Given the description of an element on the screen output the (x, y) to click on. 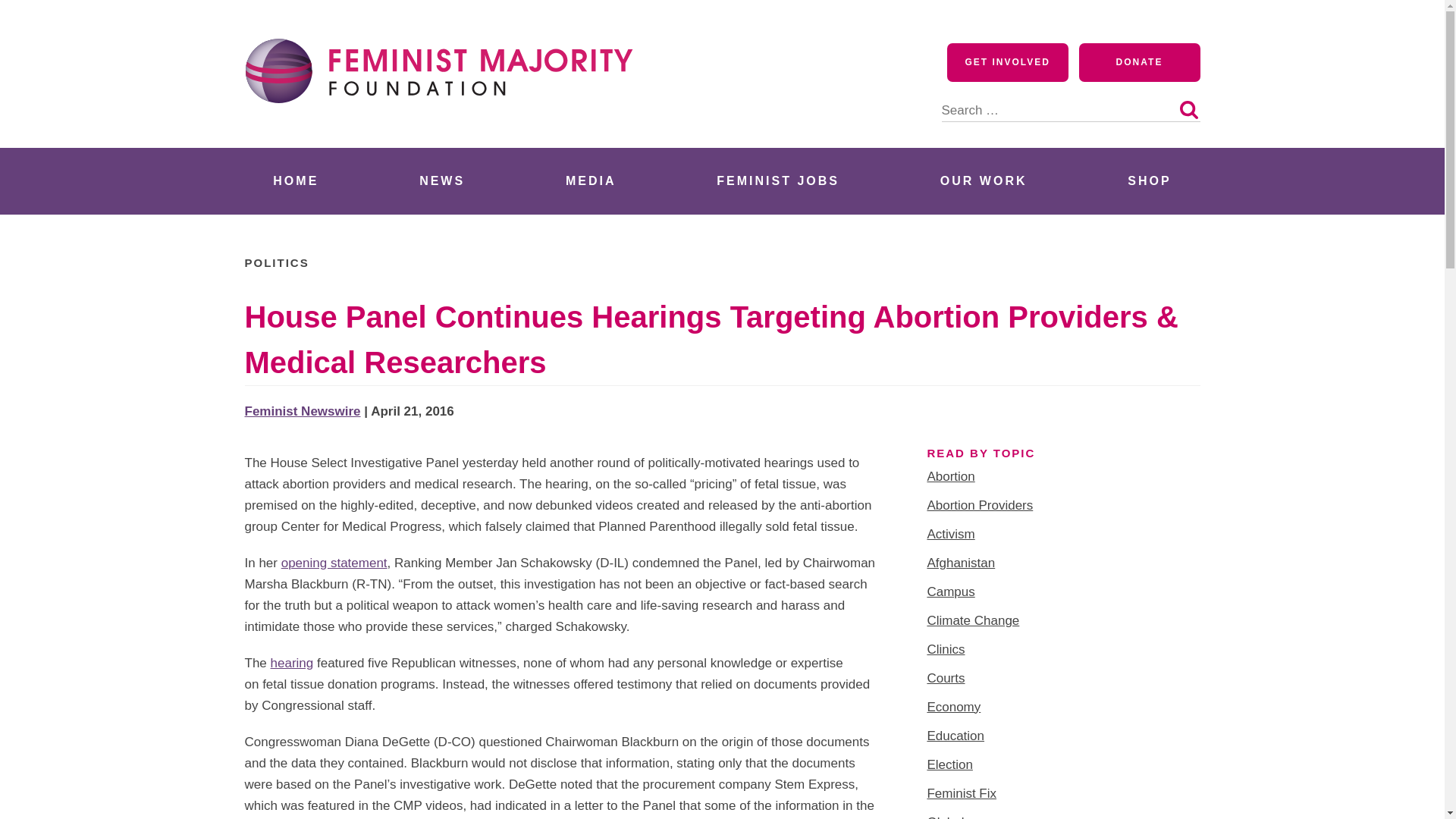
Search (1187, 109)
GET INVOLVED (1007, 62)
MEDIA (591, 181)
POLITICS (276, 262)
Search (1187, 109)
OUR WORK (983, 181)
opening statement (334, 563)
Posts by Feminist Newswire (301, 411)
Feminist Majority Foundation (445, 130)
SHOP (1149, 181)
DONATE (1138, 62)
HOME (295, 181)
Search (1187, 109)
hearing (292, 663)
Feminist Newswire (301, 411)
